Given the description of an element on the screen output the (x, y) to click on. 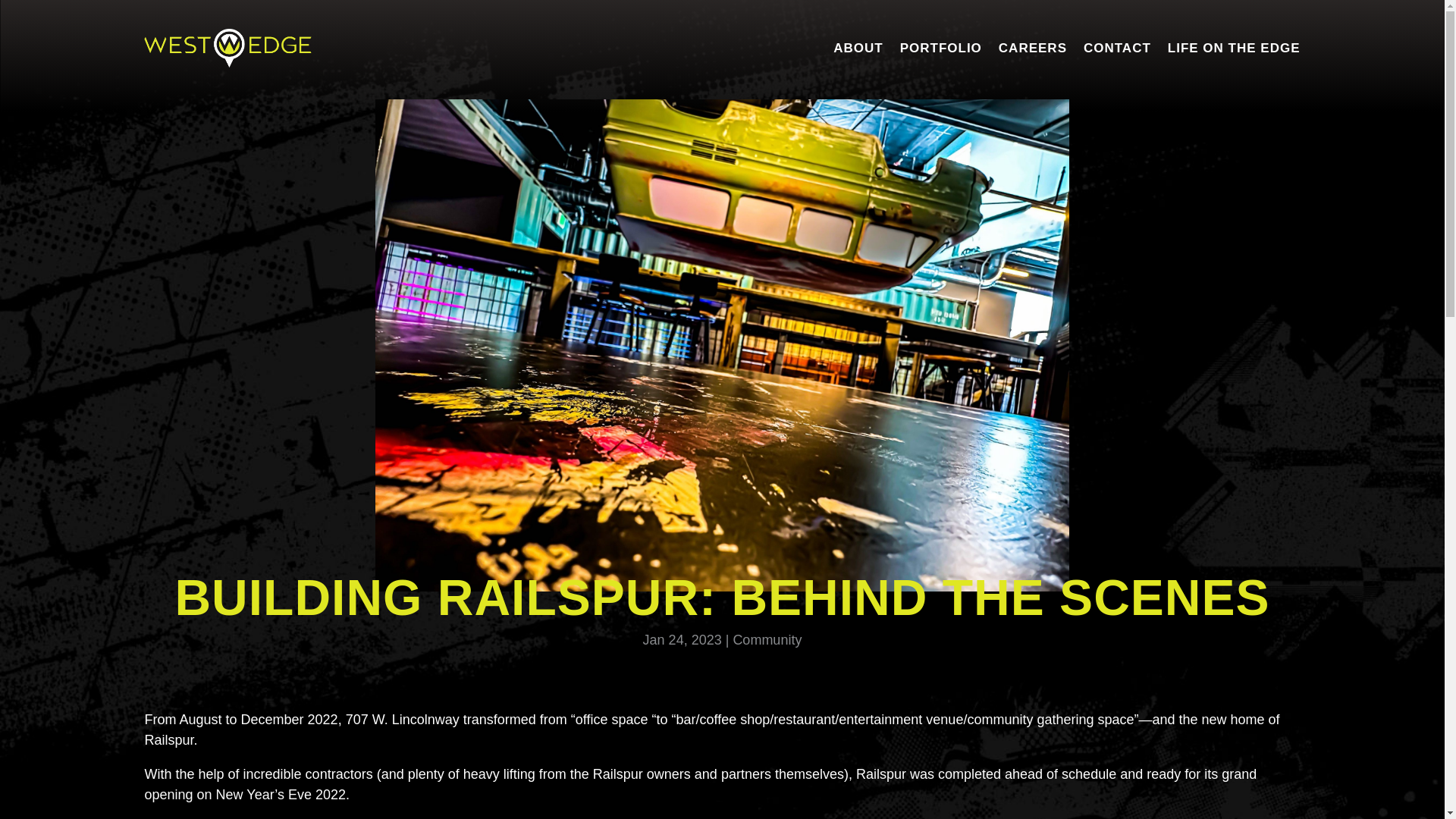
LIFE ON THE EDGE (1233, 51)
CAREERS (1032, 51)
ABOUT (857, 51)
PORTFOLIO (940, 51)
Community (767, 639)
CONTACT (1117, 51)
